Given the description of an element on the screen output the (x, y) to click on. 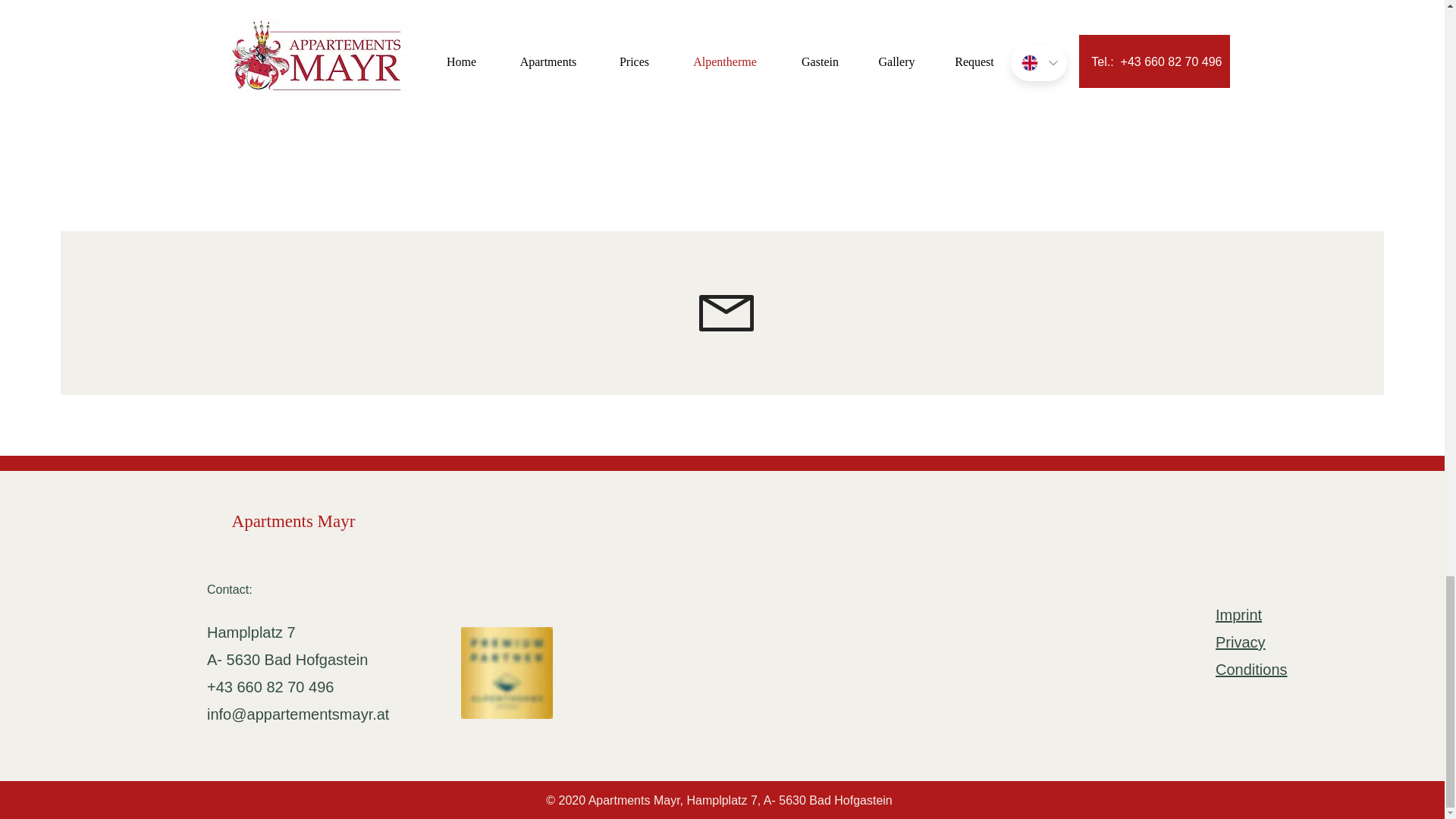
Imprint (1238, 614)
Privacy (1240, 641)
Embedded Content (493, 568)
Conditions (1251, 669)
Apartments Mayr (293, 520)
